Given the description of an element on the screen output the (x, y) to click on. 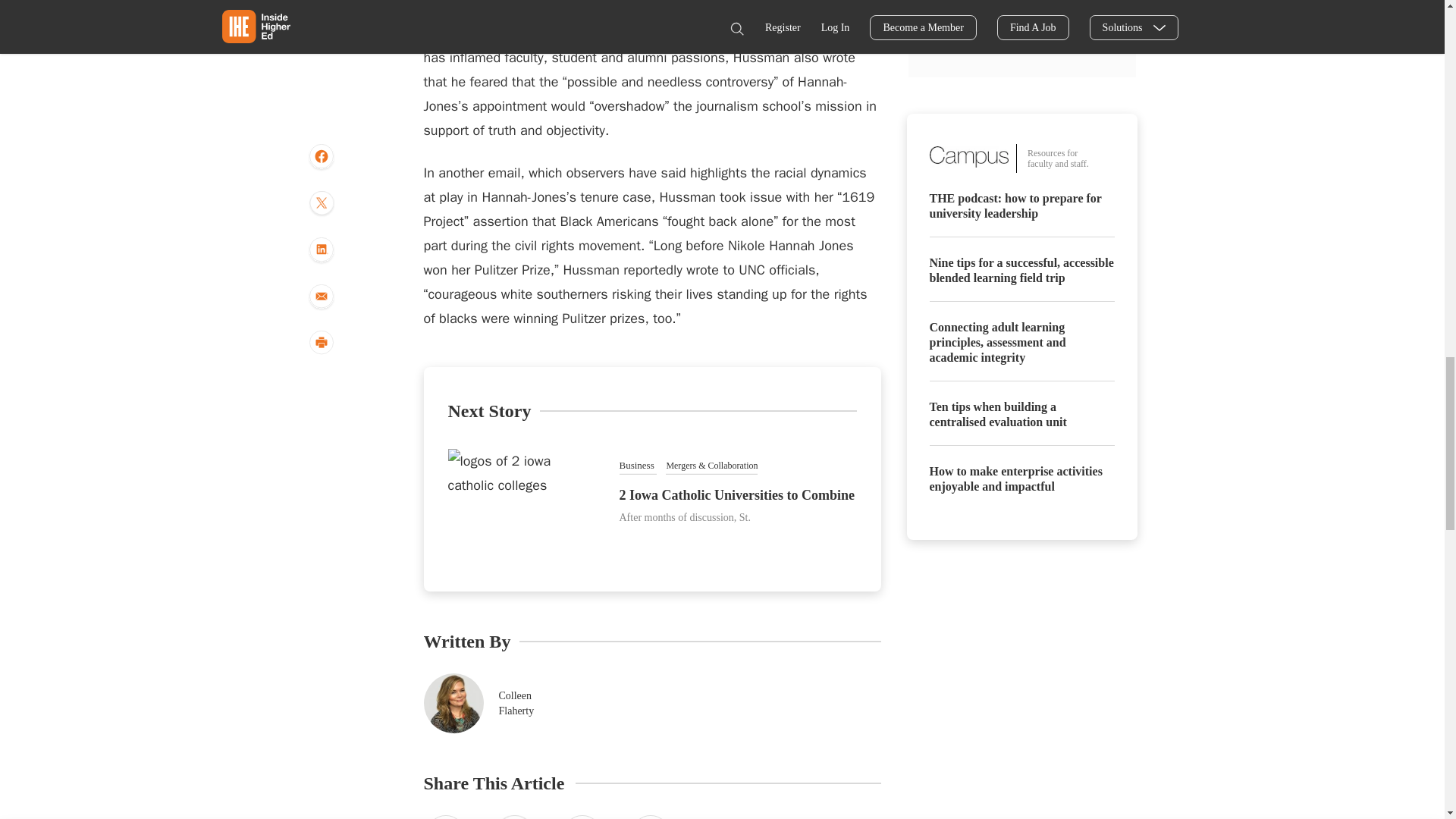
share to facebook (445, 816)
